Given the description of an element on the screen output the (x, y) to click on. 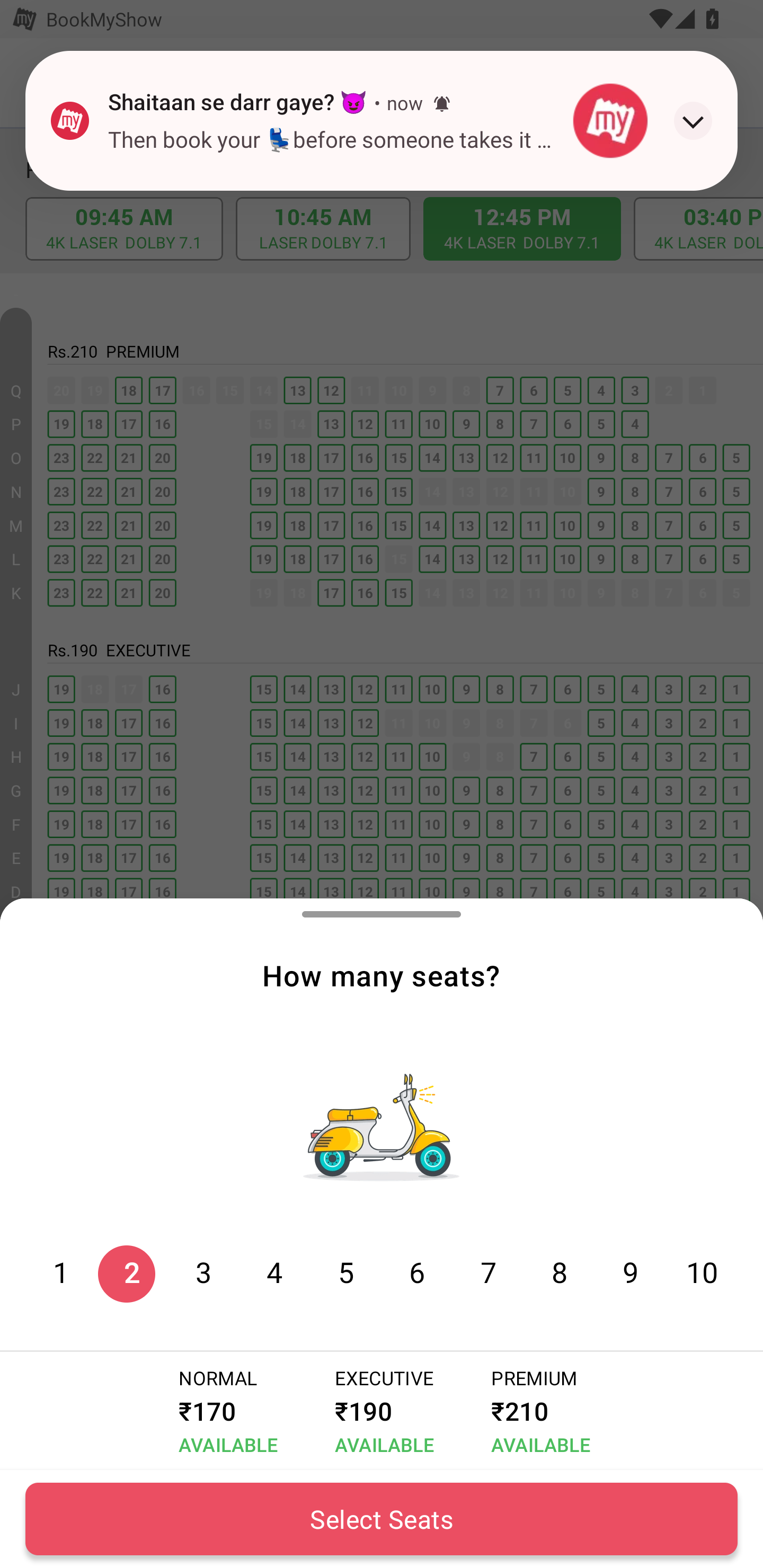
NORMAL ₹170 AVAILABLE (224, 1410)
EXECUTIVE ₹190 AVAILABLE (380, 1410)
PREMIUM ₹210 AVAILABLE (537, 1410)
Select Seats (381, 1519)
